Given the description of an element on the screen output the (x, y) to click on. 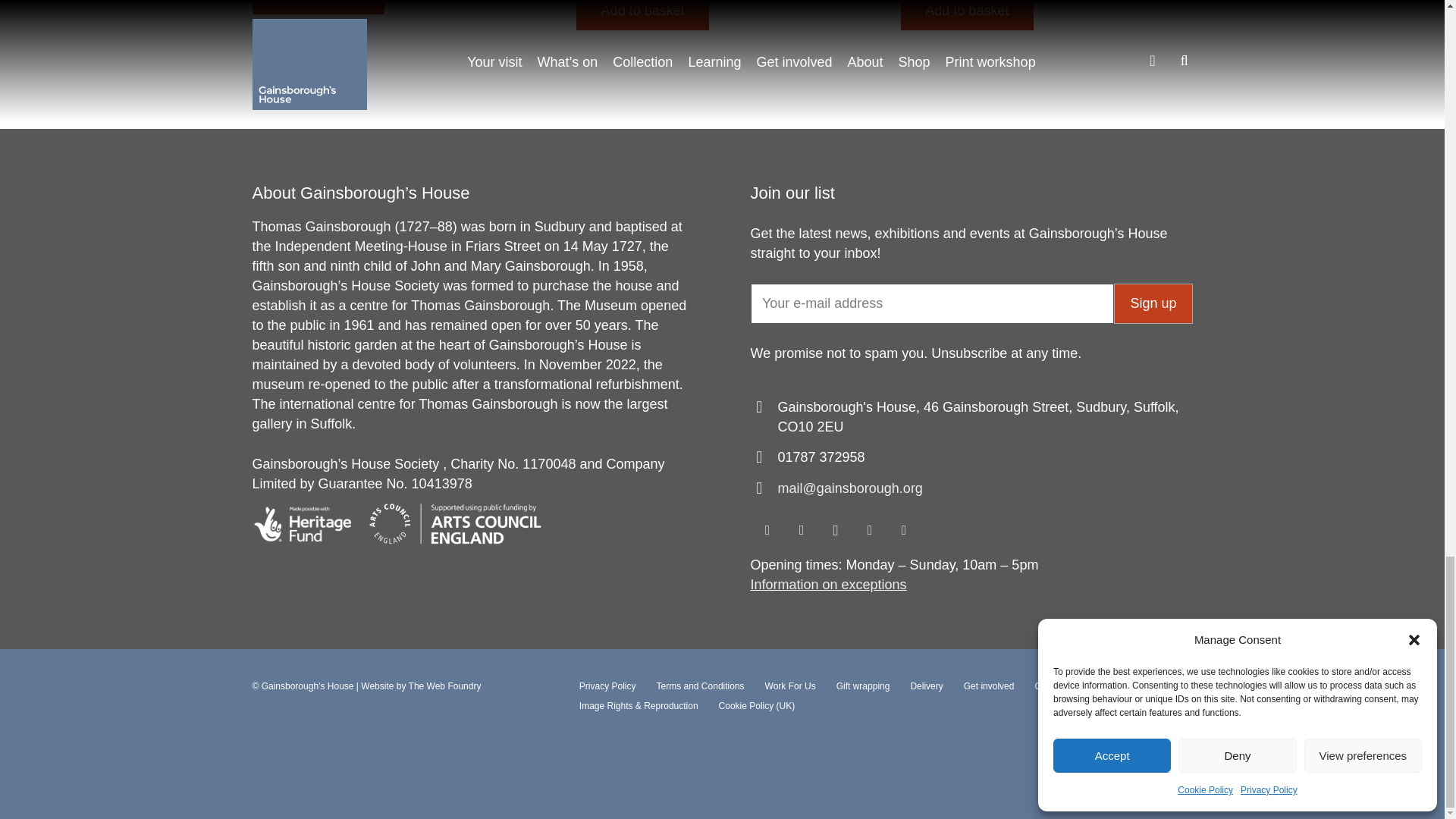
Instagram (835, 530)
TikTok (903, 530)
Sign up (1152, 302)
LinkedIn (868, 530)
Twitter (801, 530)
Facebook (767, 530)
